Given the description of an element on the screen output the (x, y) to click on. 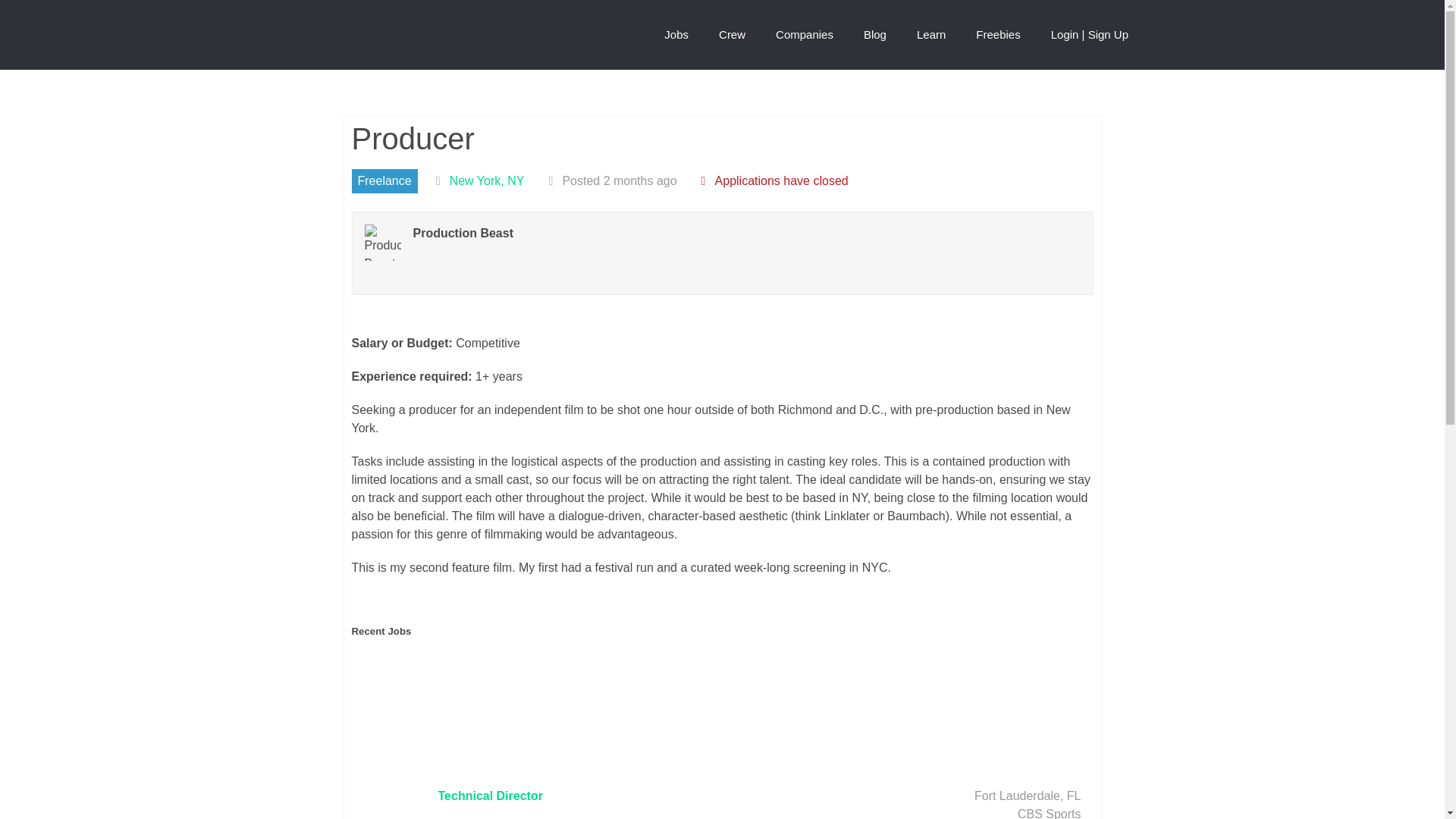
Companies (804, 34)
Blog (874, 34)
Blog (874, 34)
Learn (930, 34)
Freebies (997, 34)
Jobs (676, 34)
Crew (731, 34)
Learn (930, 34)
Jobs (676, 34)
Crew (731, 34)
